Given the description of an element on the screen output the (x, y) to click on. 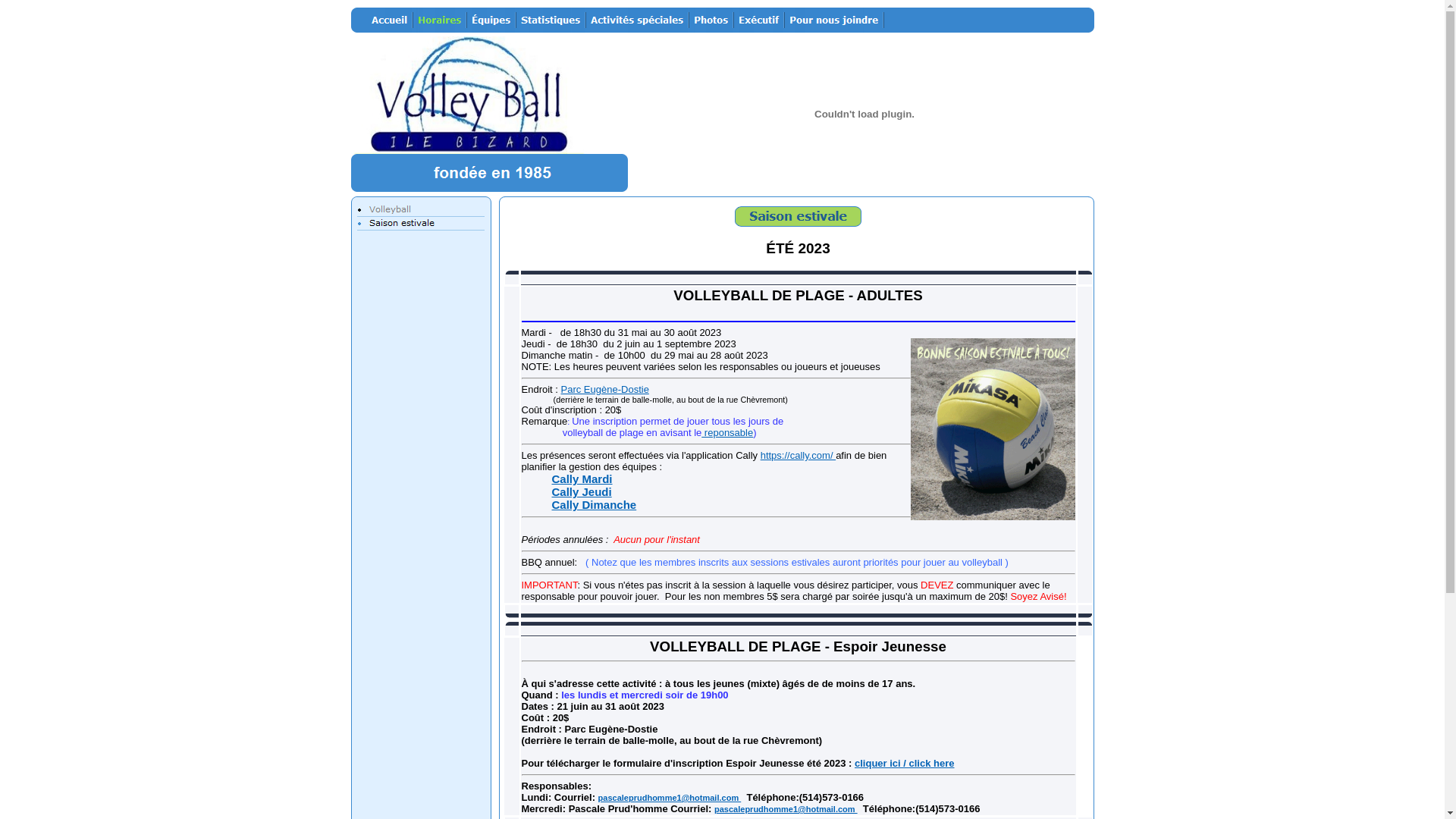
Cally Mardi Element type: text (582, 478)
https://cally.com/ Element type: text (797, 455)
reponsable Element type: text (727, 432)
cliquer ici / click here Element type: text (904, 762)
pascaleprudhomme1@hotmail.com Element type: text (785, 808)
pascaleprudhomme1@hotmail.com Element type: text (669, 797)
Cally Dimanche Element type: text (594, 504)
Cally Jeudi Element type: text (581, 491)
